Given the description of an element on the screen output the (x, y) to click on. 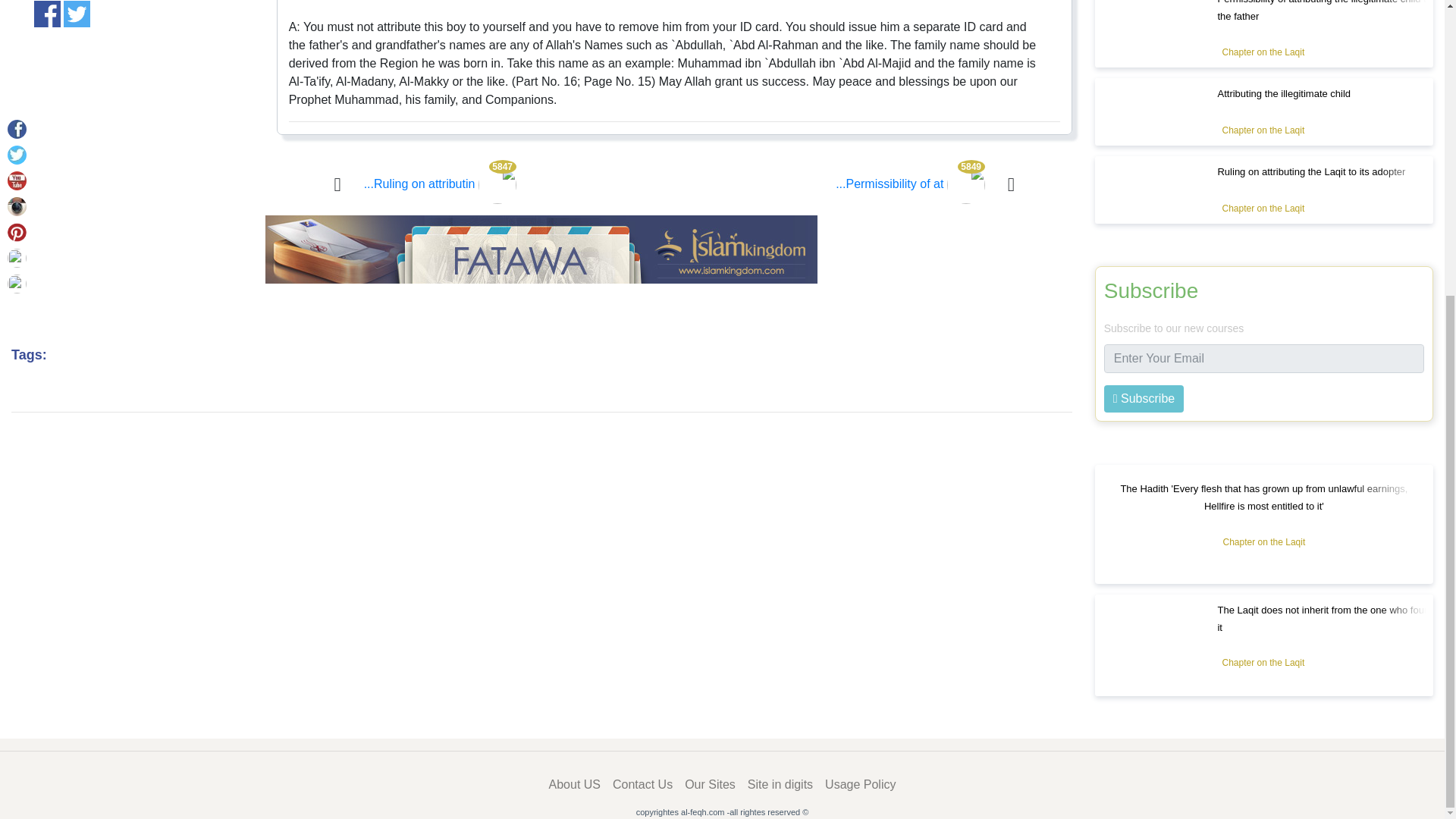
Chapter on the Laqit (1262, 130)
Chapter on the Laqit (1262, 52)
Ruling on attributing the Laqit to the one who found it (440, 183)
Attributing the illegitimate child (1284, 93)
